Given the description of an element on the screen output the (x, y) to click on. 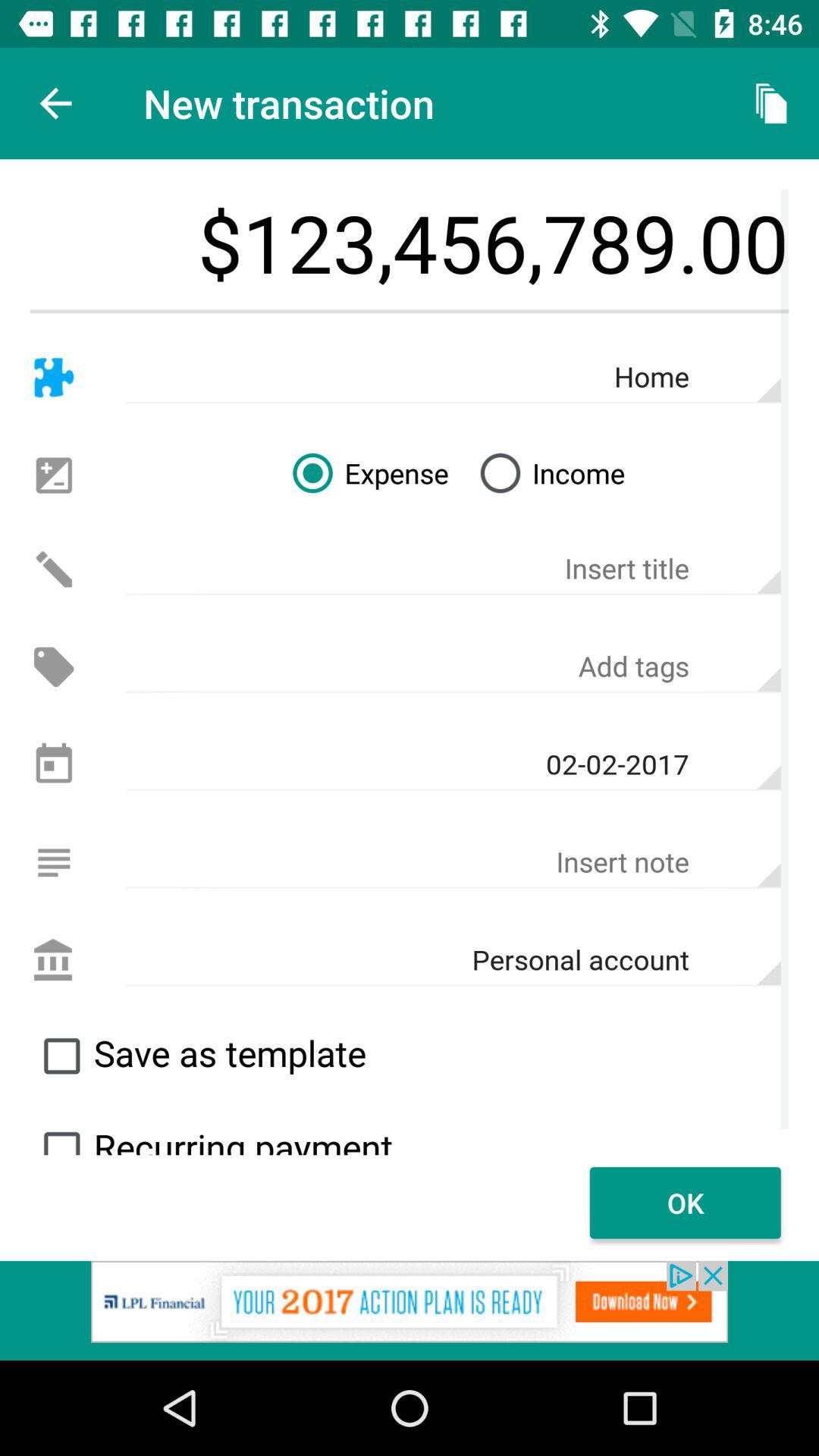
date setting (53, 764)
